Given the description of an element on the screen output the (x, y) to click on. 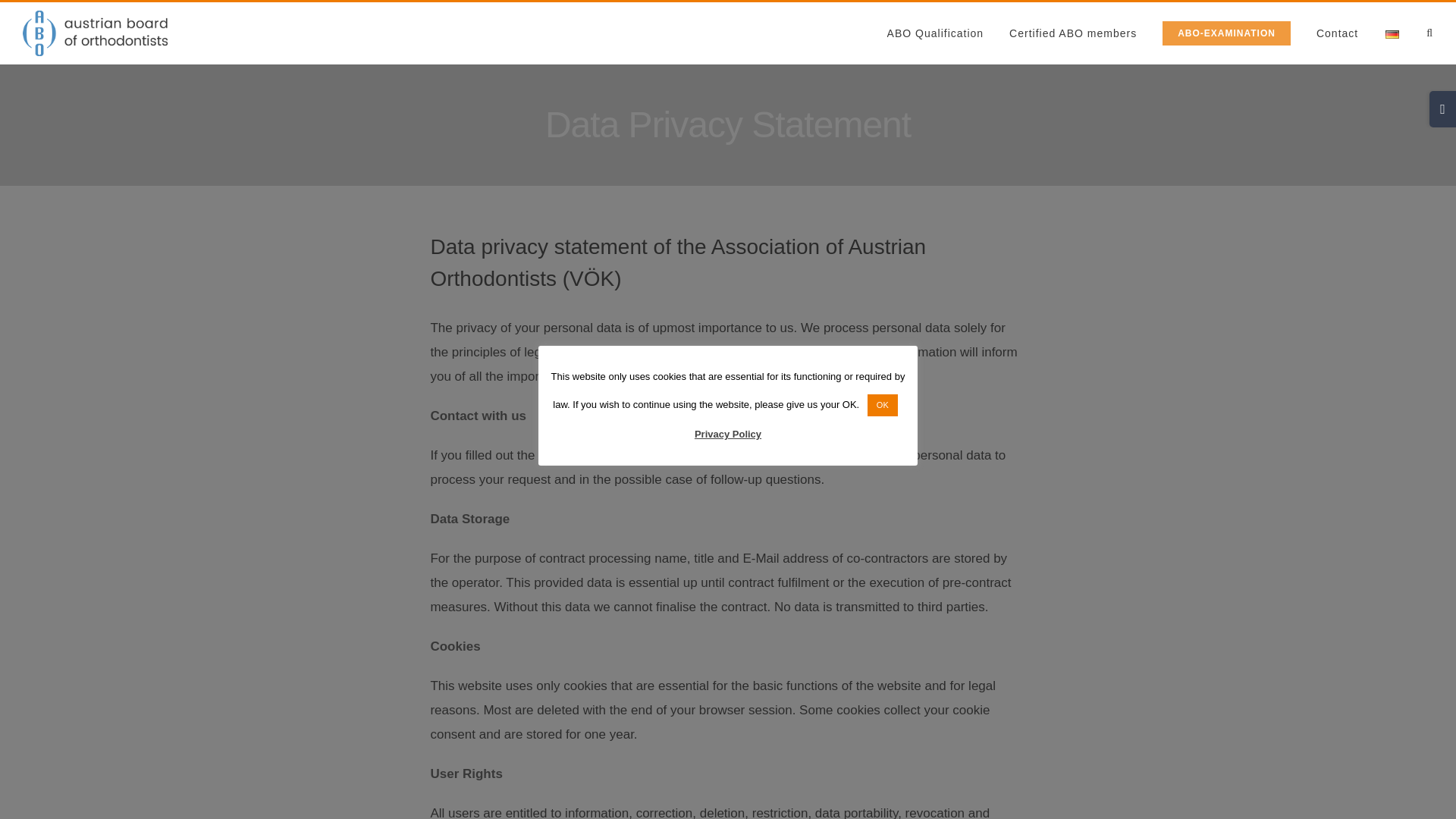
ABO Qualification (935, 33)
ABO-EXAMINATION (1225, 33)
Certified ABO members (1073, 33)
